Given the description of an element on the screen output the (x, y) to click on. 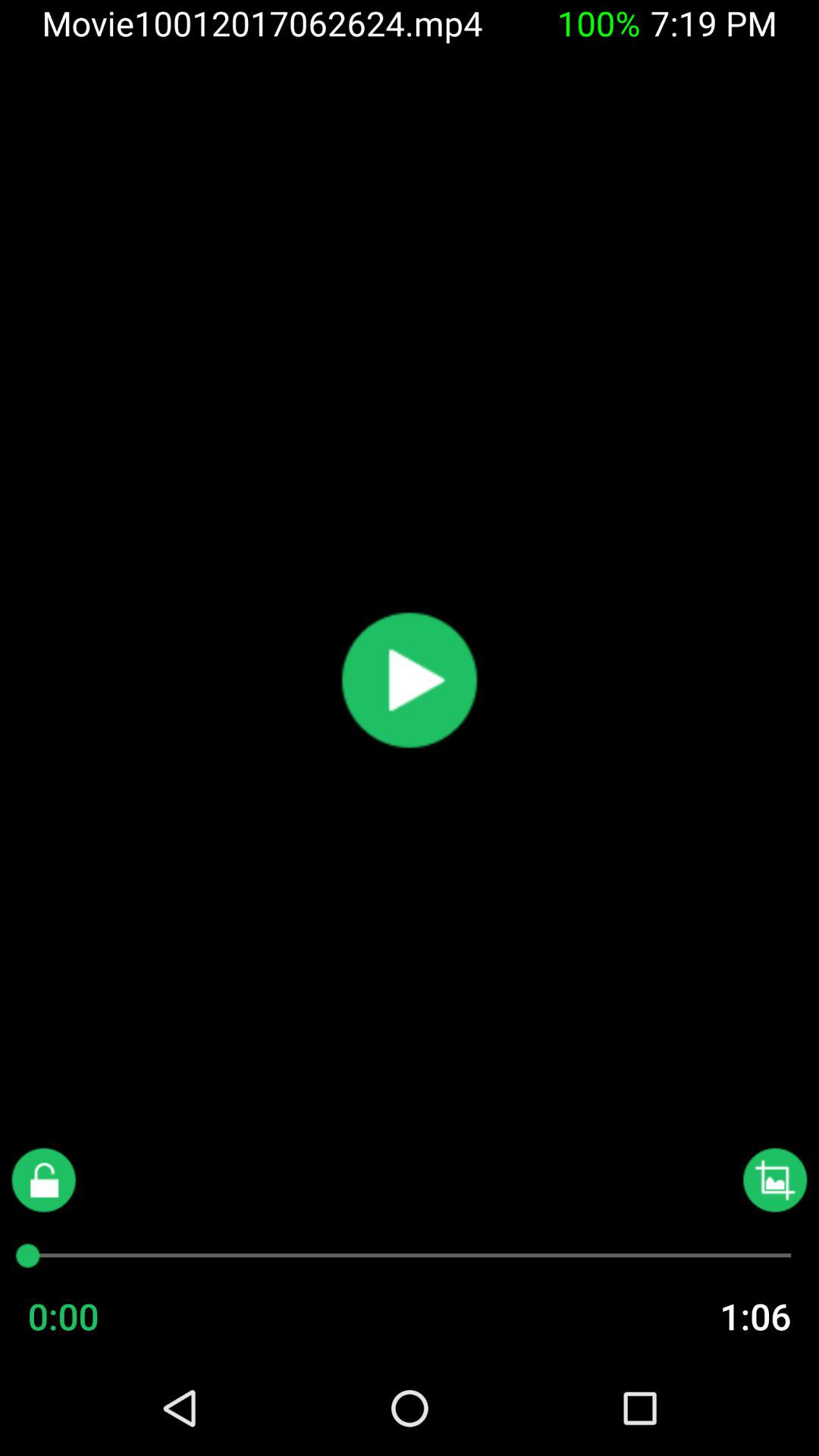
lock (43, 1179)
